Given the description of an element on the screen output the (x, y) to click on. 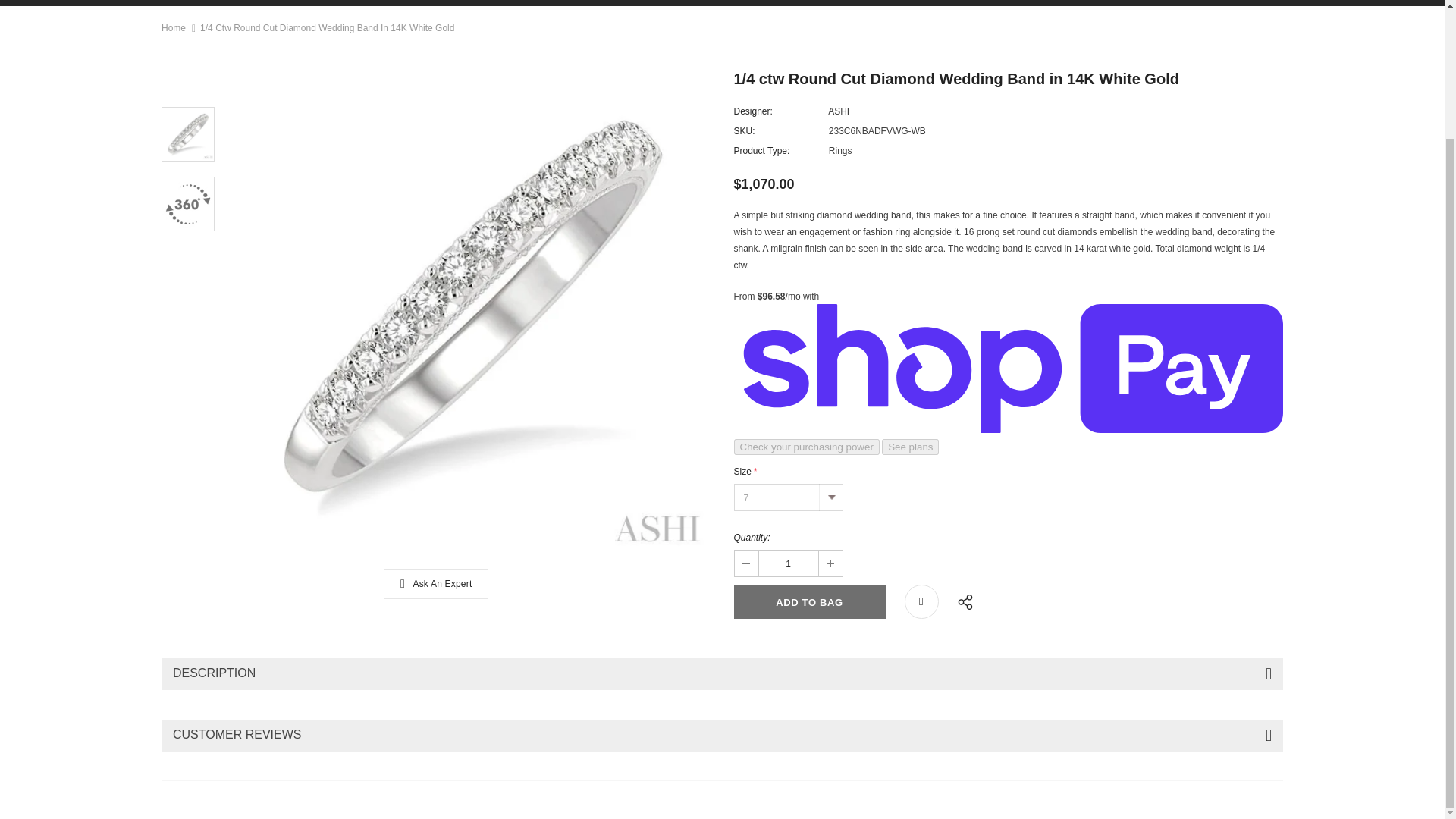
Add to Bag (809, 601)
1 (787, 563)
